Given the description of an element on the screen output the (x, y) to click on. 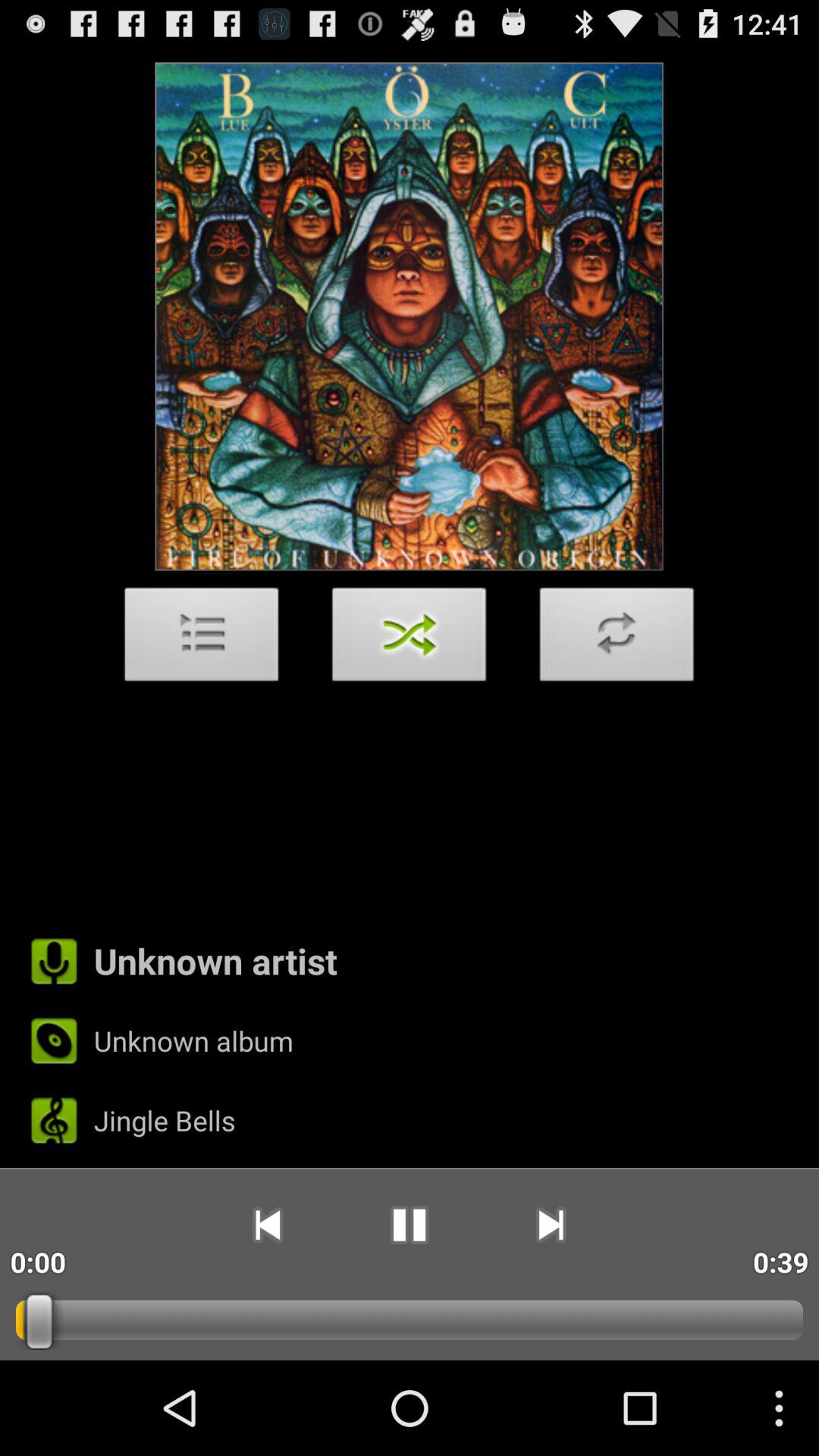
select icon on the right (616, 638)
